Given the description of an element on the screen output the (x, y) to click on. 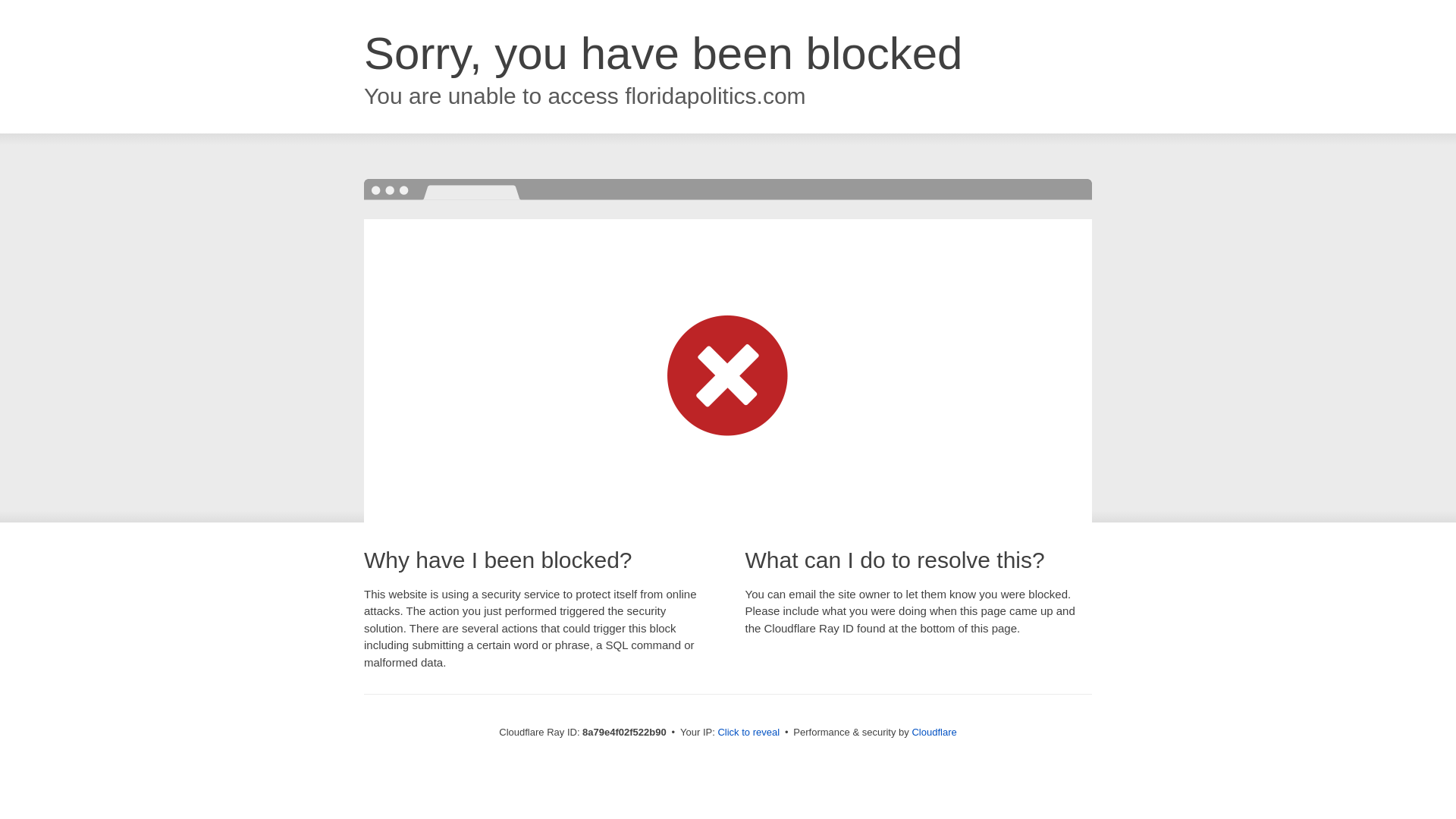
Click to reveal (747, 732)
Cloudflare (933, 731)
